Given the description of an element on the screen output the (x, y) to click on. 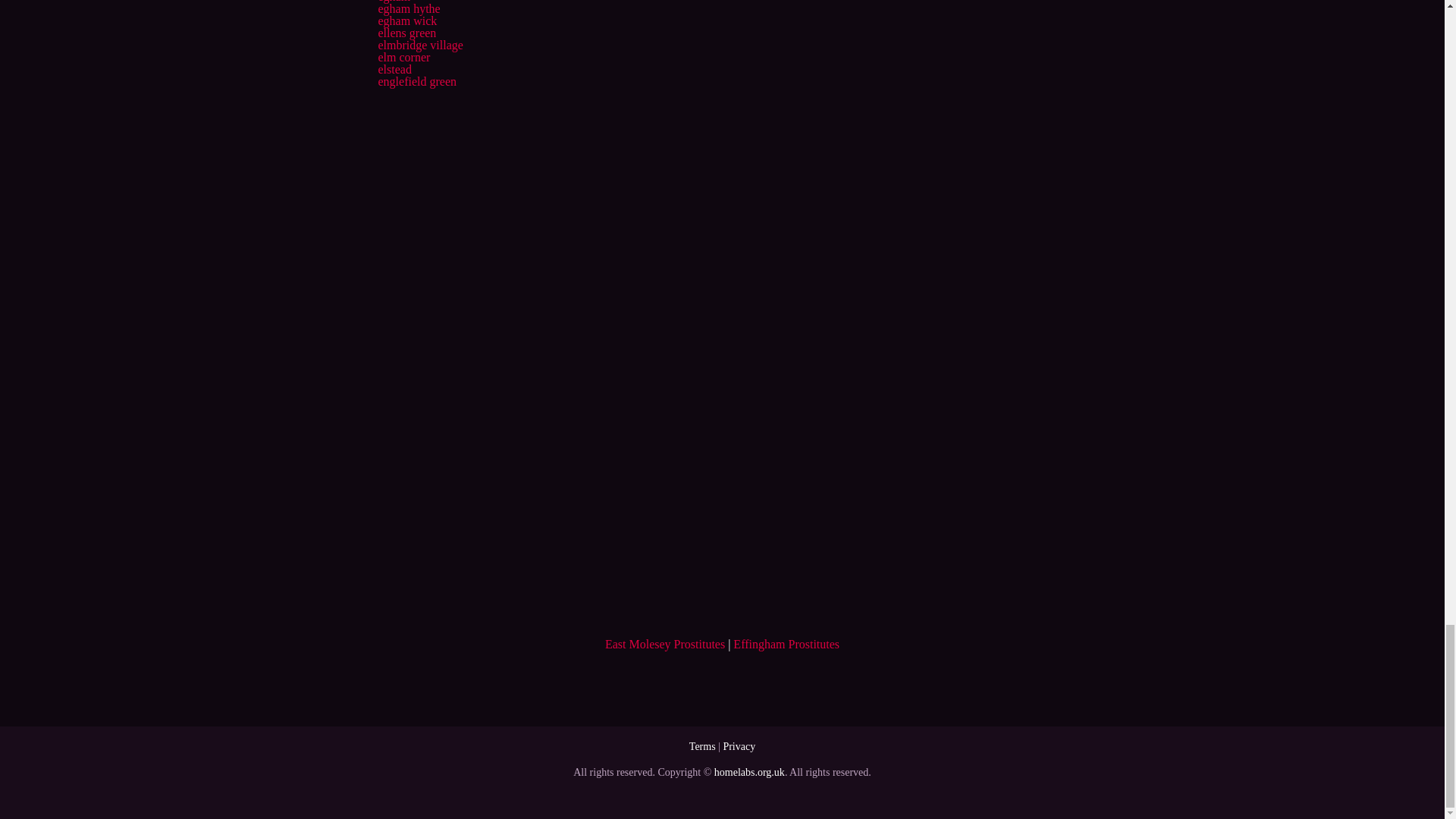
Terms (702, 746)
East Molesey Prostitutes (665, 644)
homelabs.org.uk (749, 772)
Privacy (738, 746)
egham wick (406, 20)
ellens green (406, 32)
Privacy (738, 746)
elm corner (403, 56)
elmbridge village (420, 44)
egham hythe (408, 8)
